Given the description of an element on the screen output the (x, y) to click on. 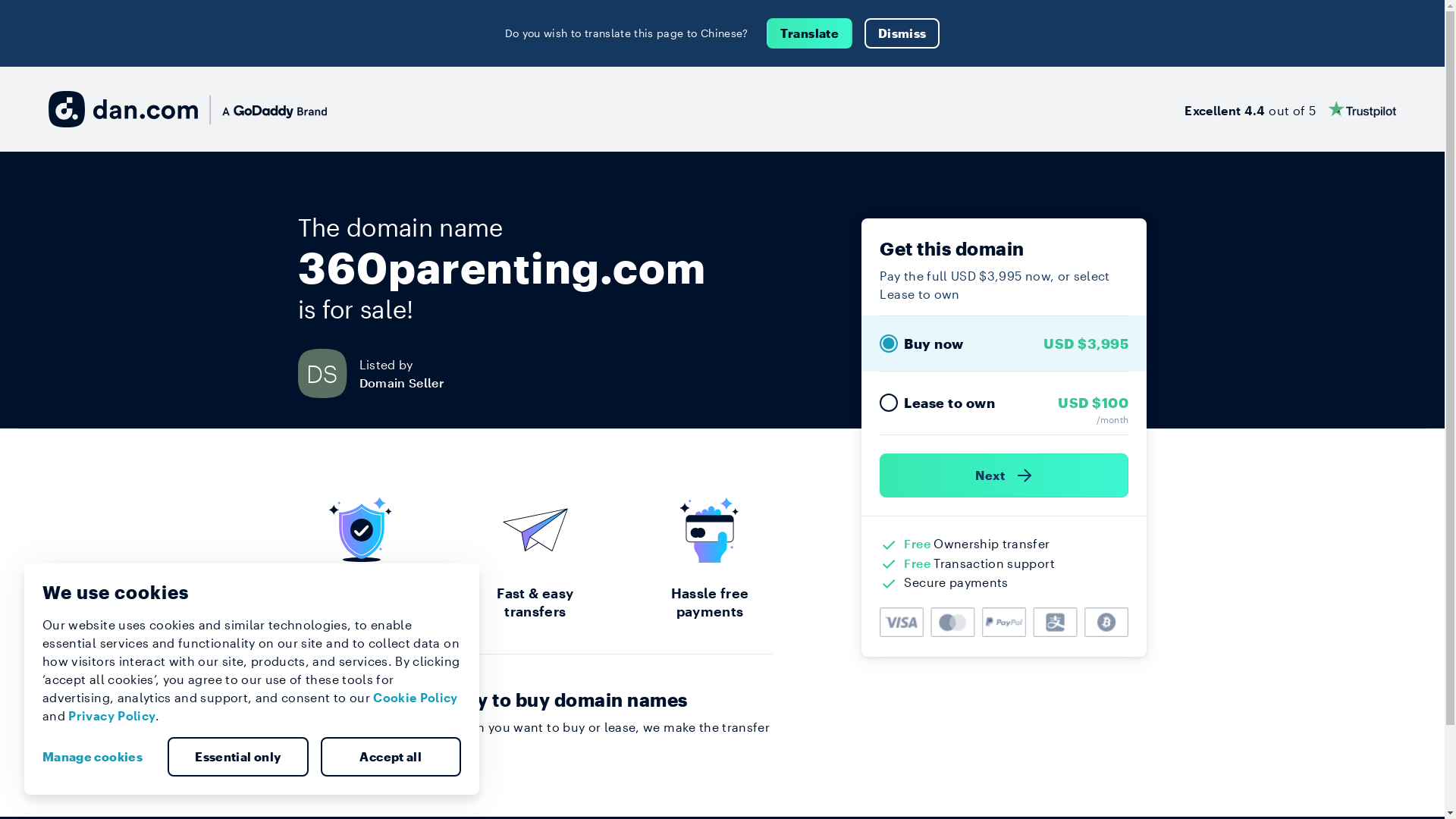
Cookie Policy Element type: text (415, 697)
Accept all Element type: text (390, 756)
Essential only Element type: text (237, 756)
Excellent 4.4 out of 5 Element type: text (1290, 109)
Translate Element type: text (809, 33)
Next
) Element type: text (1003, 475)
Privacy Policy Element type: text (111, 715)
Manage cookies Element type: text (98, 756)
Dismiss Element type: text (901, 33)
